Given the description of an element on the screen output the (x, y) to click on. 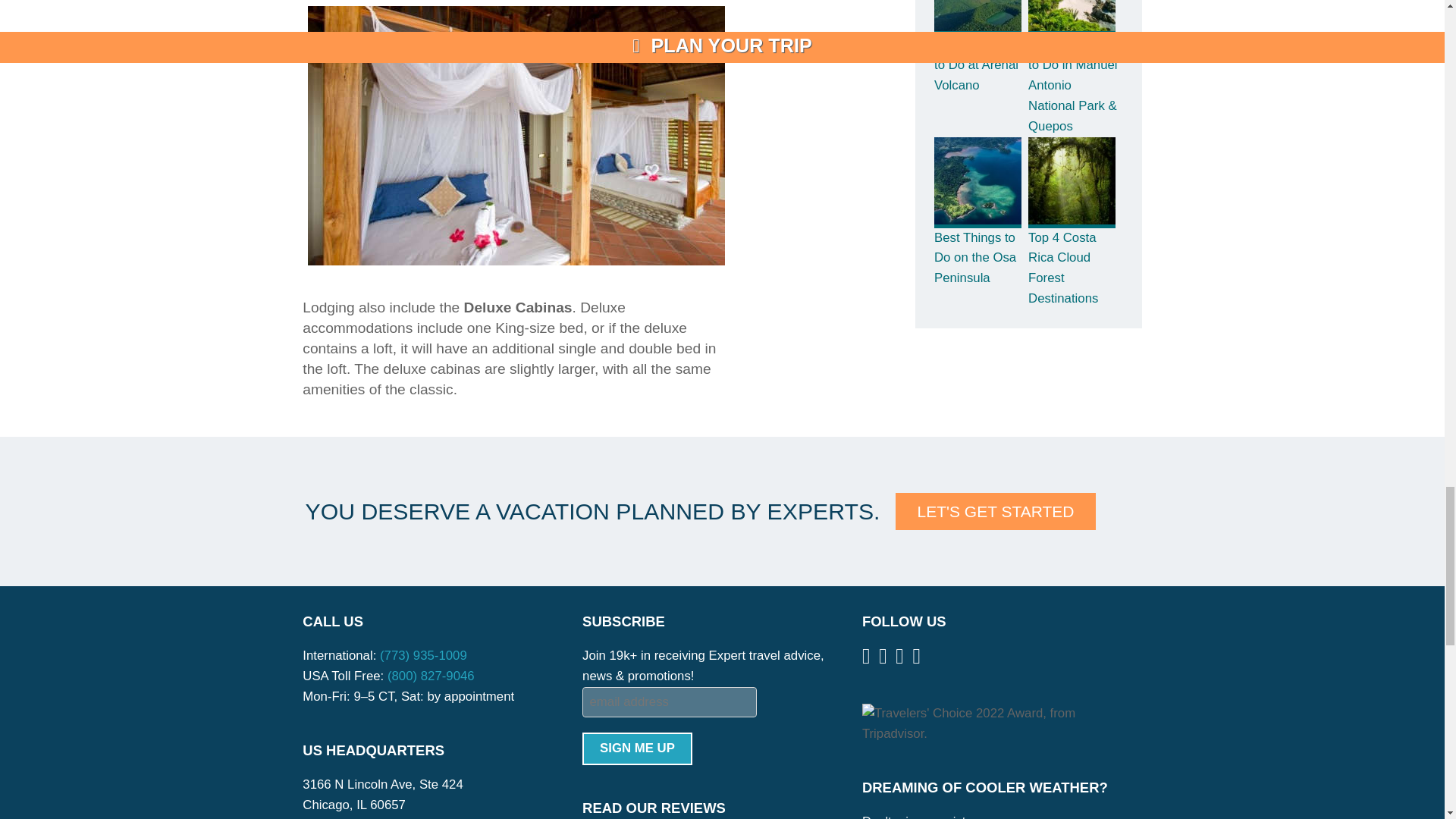
SIGN ME UP (637, 748)
